Given the description of an element on the screen output the (x, y) to click on. 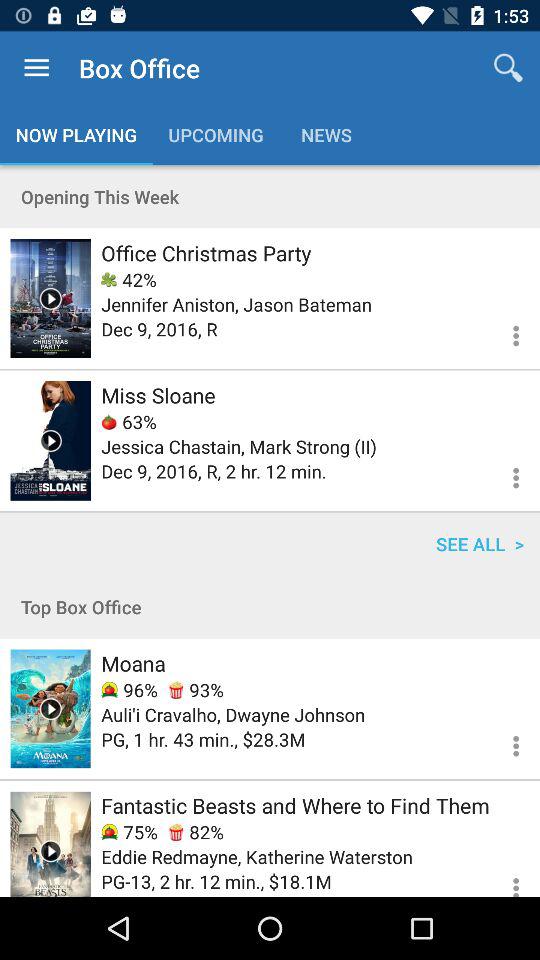
more option (503, 743)
